Given the description of an element on the screen output the (x, y) to click on. 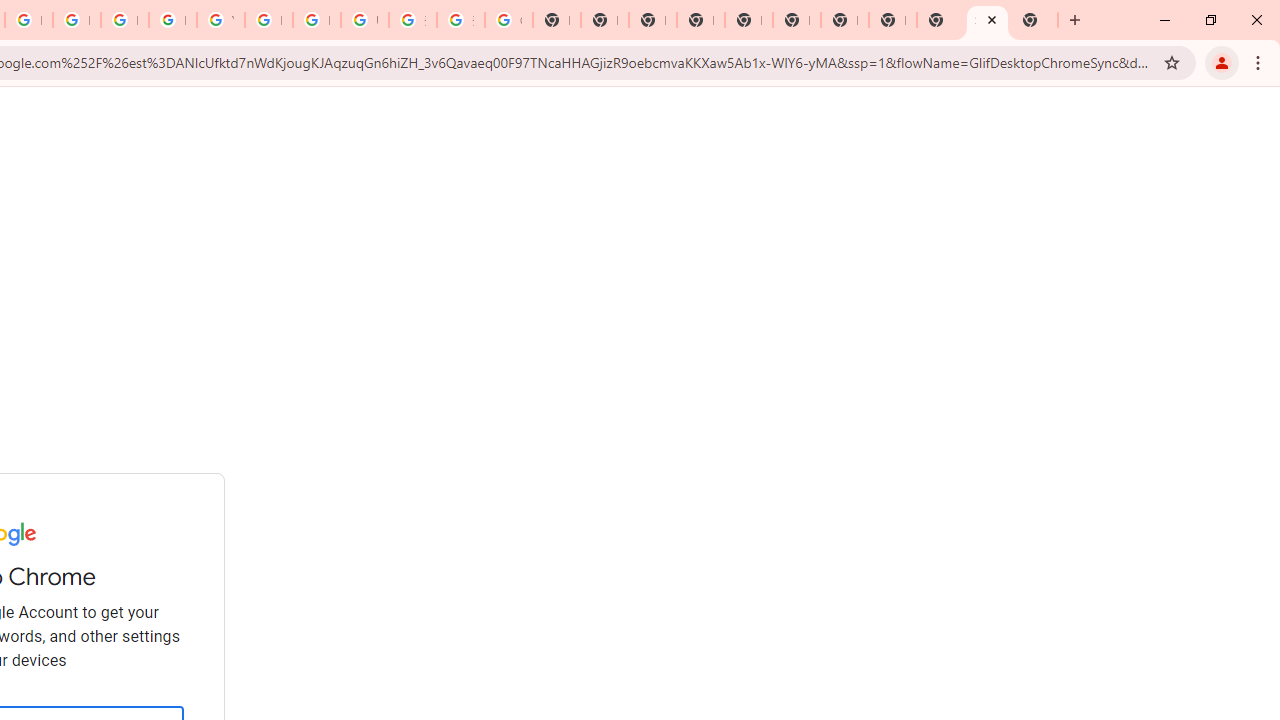
Privacy Help Center - Policies Help (76, 20)
